Given the description of an element on the screen output the (x, y) to click on. 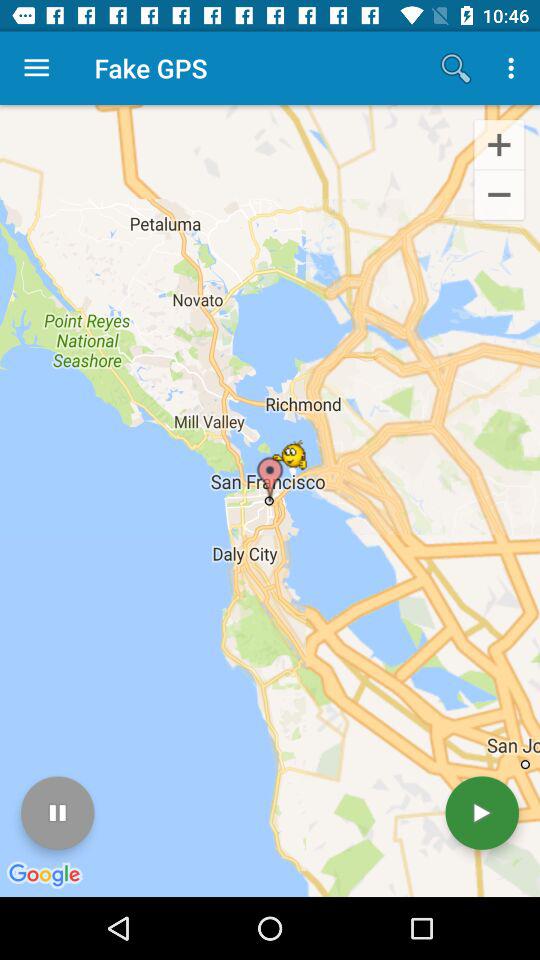
choose icon at the bottom right corner (482, 812)
